Given the description of an element on the screen output the (x, y) to click on. 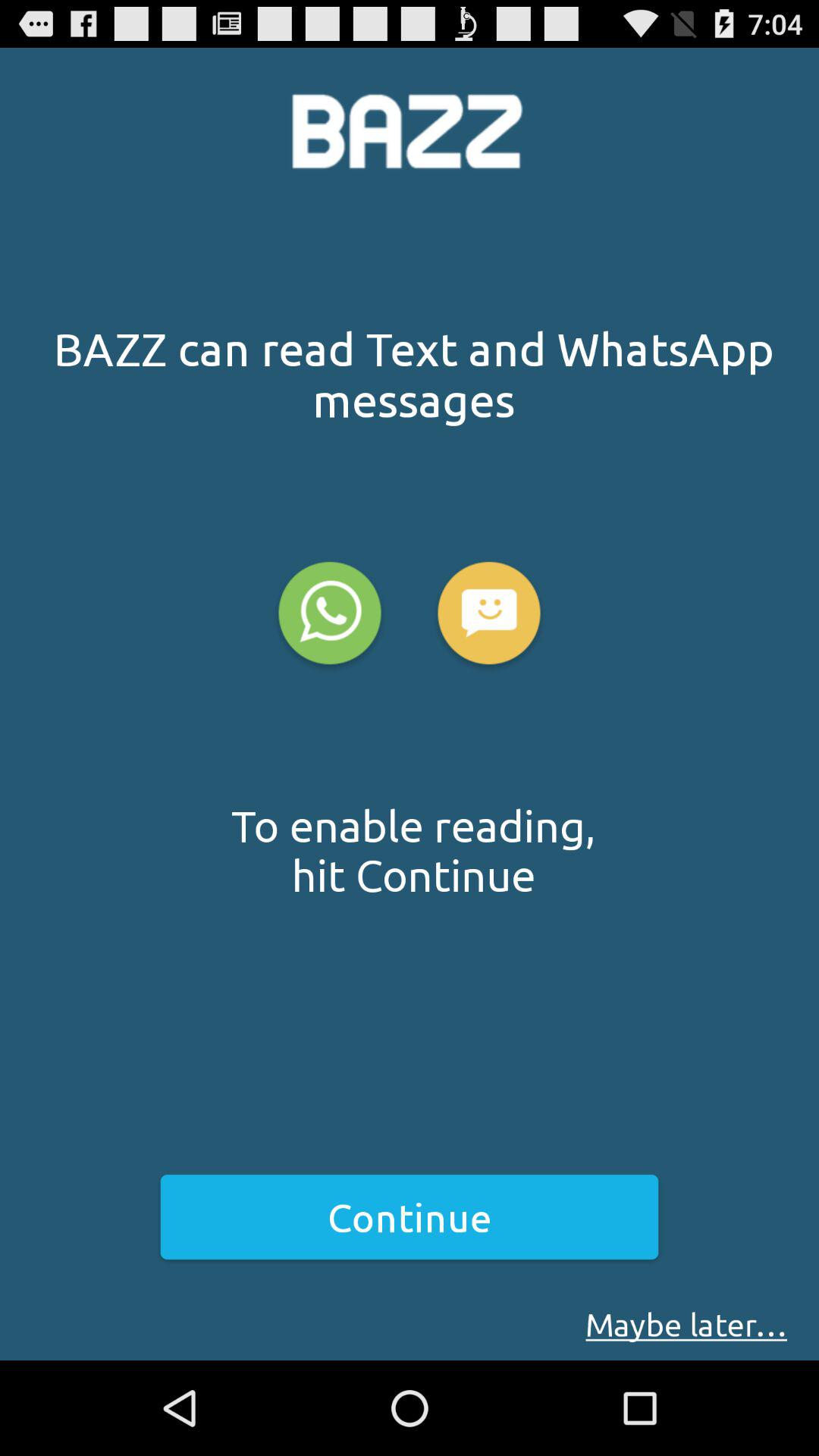
press the icon below continue item (686, 1324)
